Given the description of an element on the screen output the (x, y) to click on. 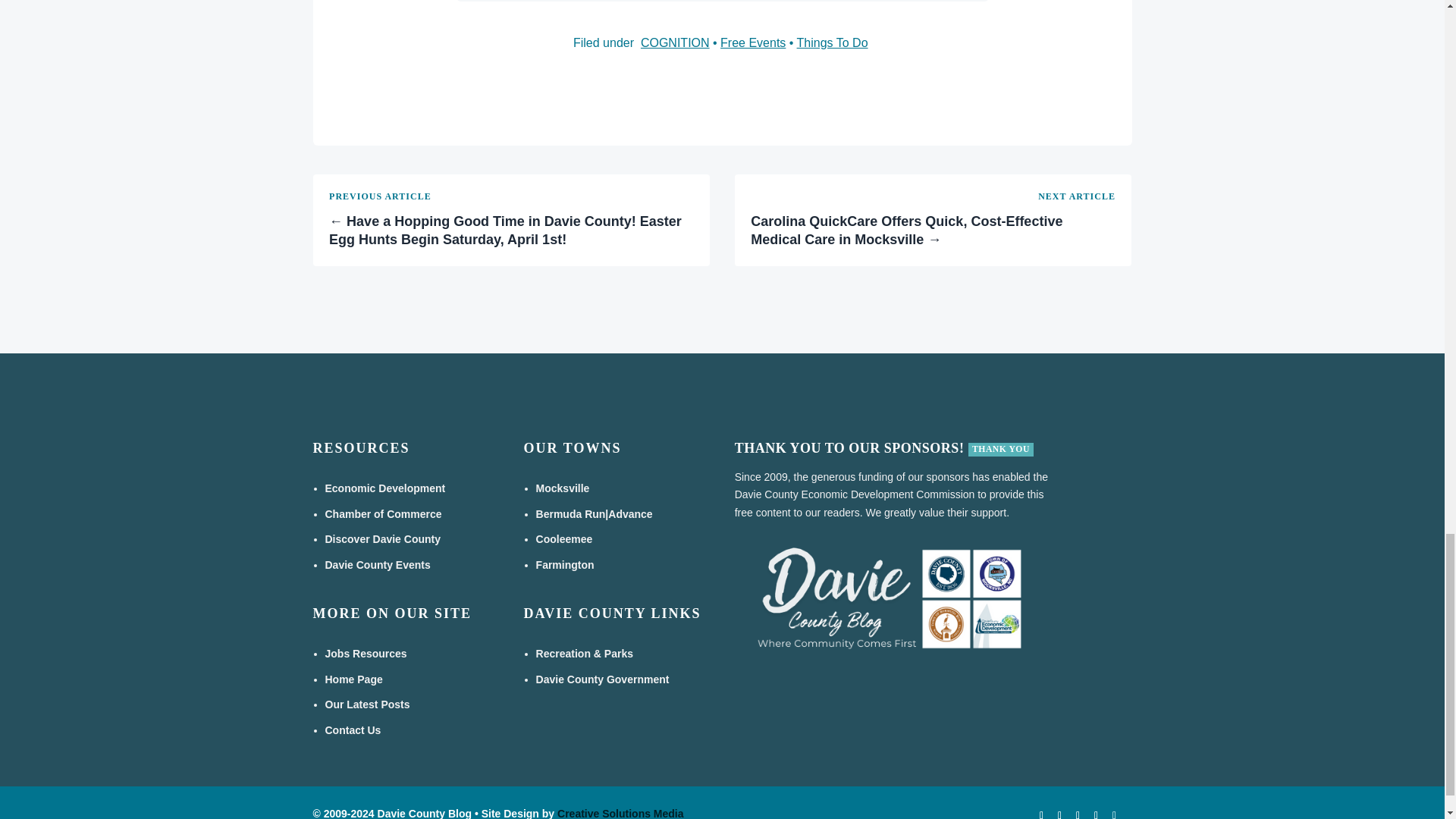
Farmington (564, 564)
Davie County Events (376, 564)
Chamber of Commerce (382, 513)
Home Page (352, 679)
Discover Davie County (382, 539)
Jobs Resources (365, 653)
COGNITION (675, 42)
Davie County Government (602, 679)
Follow on Pinterest (1113, 812)
Follow on X (1077, 812)
